Given the description of an element on the screen output the (x, y) to click on. 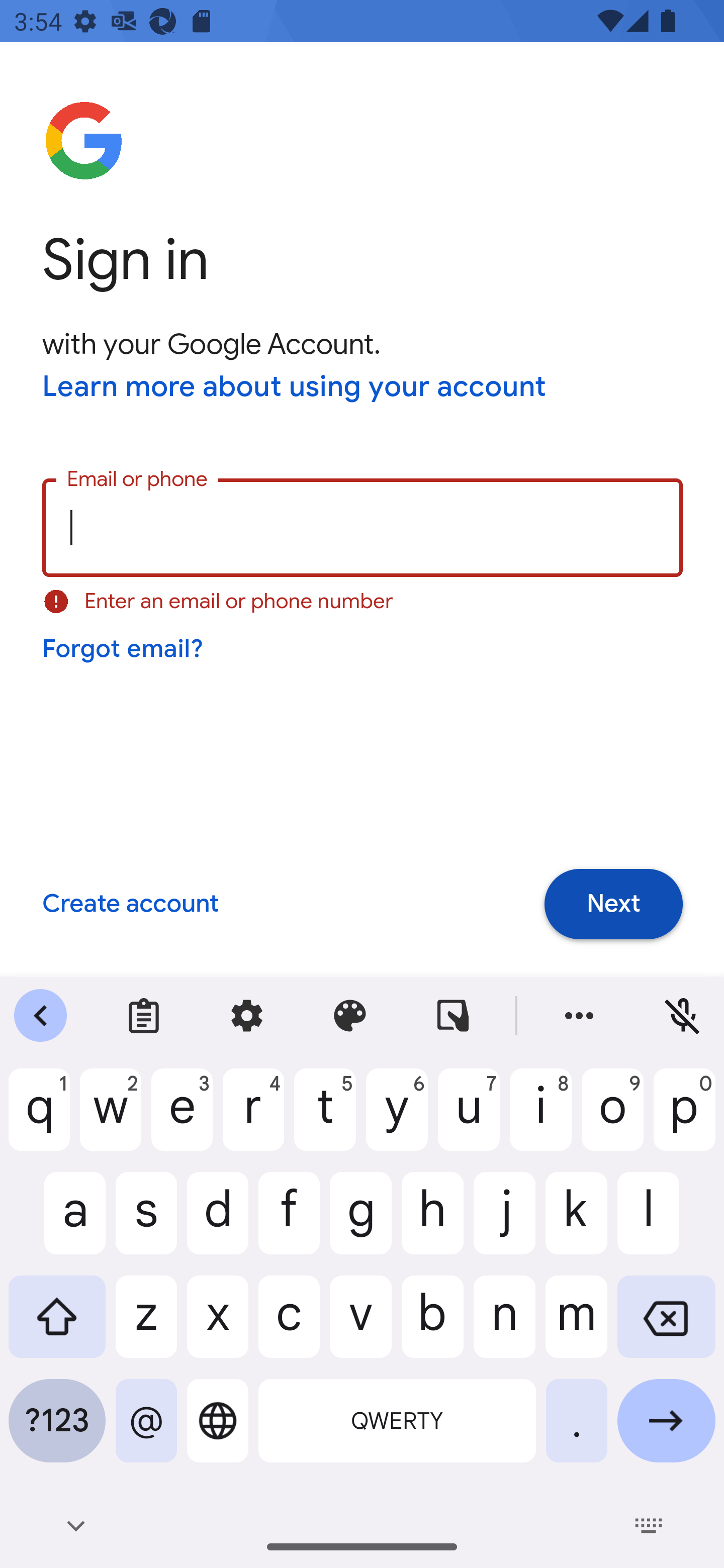
Learn more about using your account (294, 388)
Forgot email? (123, 648)
Next (613, 903)
Create account (129, 904)
